Given the description of an element on the screen output the (x, y) to click on. 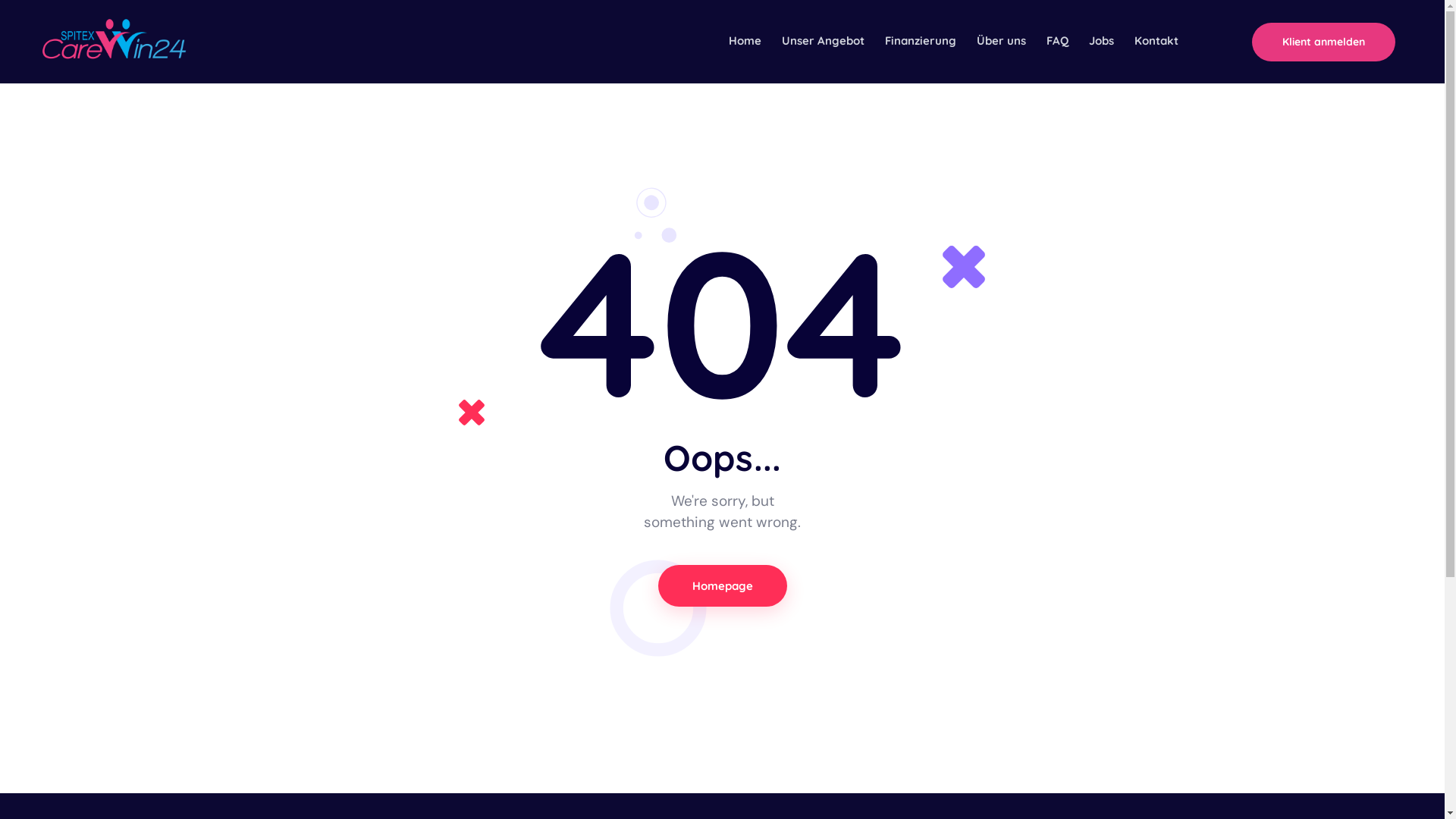
Unser Angebot Element type: text (822, 42)
Klient anmelden Element type: text (1323, 41)
FAQ Element type: text (1056, 42)
Kontakt Element type: text (1155, 42)
Homepage Element type: text (722, 585)
Finanzierung Element type: text (920, 42)
Home Element type: text (744, 42)
Jobs Element type: text (1100, 42)
